Given the description of an element on the screen output the (x, y) to click on. 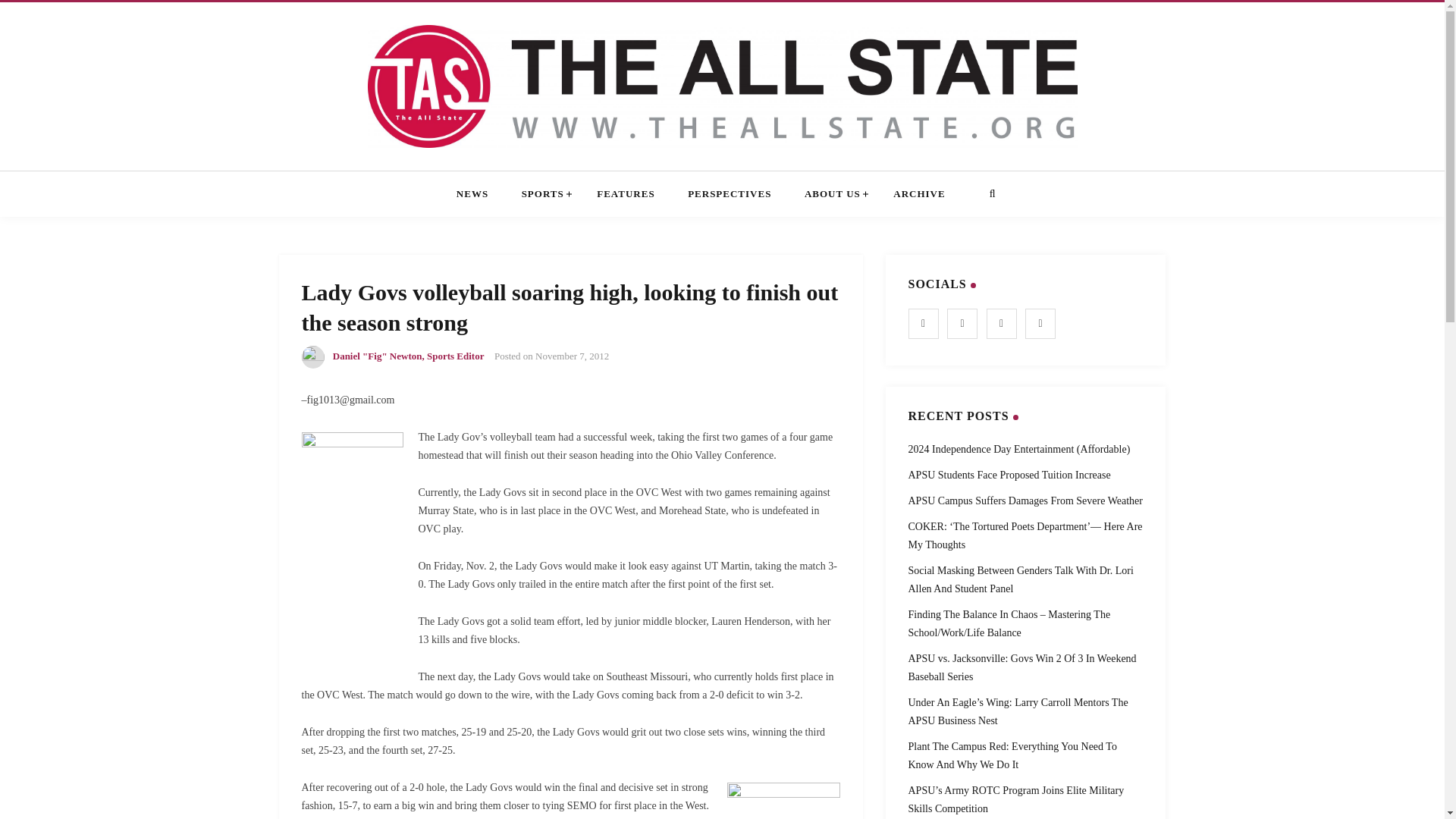
Features (624, 194)
PERSPECTIVES (729, 194)
ABOUT US (832, 194)
Archive (918, 194)
Perspectives (729, 194)
SPORTS (542, 194)
ARCHIVE (918, 194)
Sports (542, 194)
About Us (832, 194)
Daniel "Fig" Newton, Sports Editor (408, 355)
FEATURES (624, 194)
November 7, 2012 (571, 355)
